Given the description of an element on the screen output the (x, y) to click on. 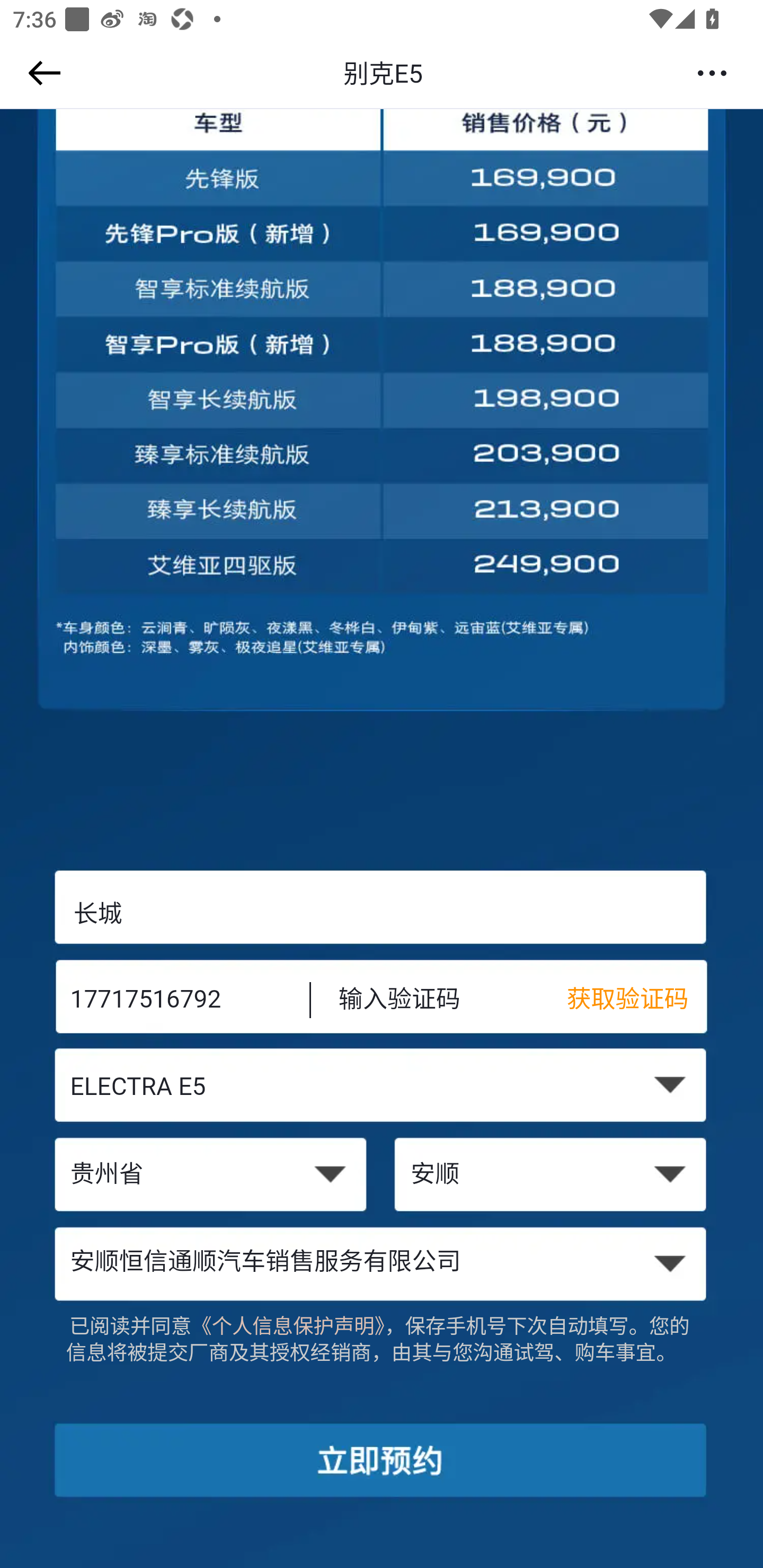
 (41, 72)
长城 (381, 912)
17717516792 (176, 1001)
获取验证码 (637, 1001)
ELECTRA E5 (381, 1088)
贵州省 (210, 1175)
安顺 (552, 1175)
安顺恒信通顺汽车销售服务有限公司 (381, 1262)
